Given the description of an element on the screen output the (x, y) to click on. 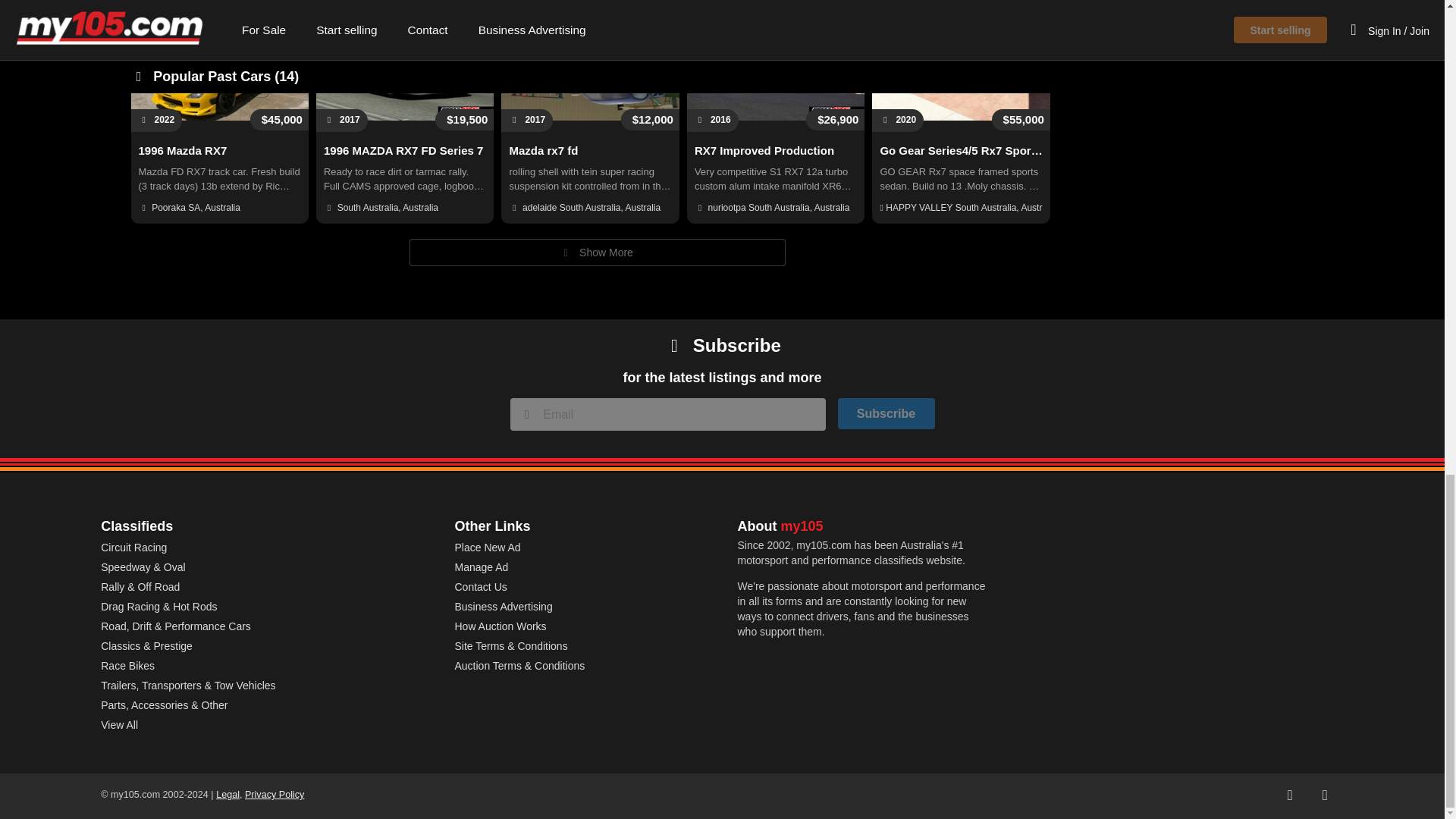
Show More (597, 252)
